Given the description of an element on the screen output the (x, y) to click on. 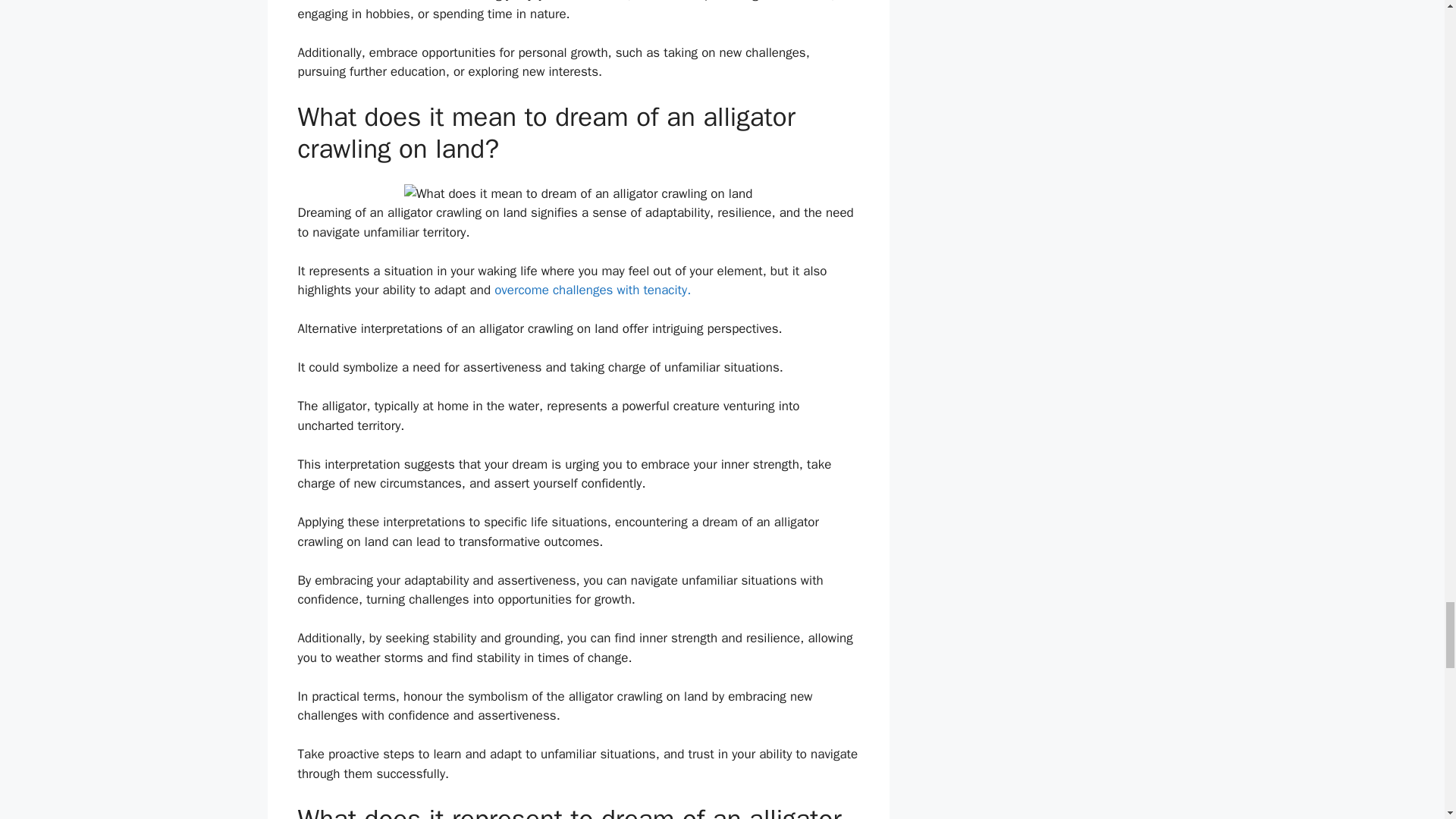
overcome challenges with tenacity. (592, 289)
